Given the description of an element on the screen output the (x, y) to click on. 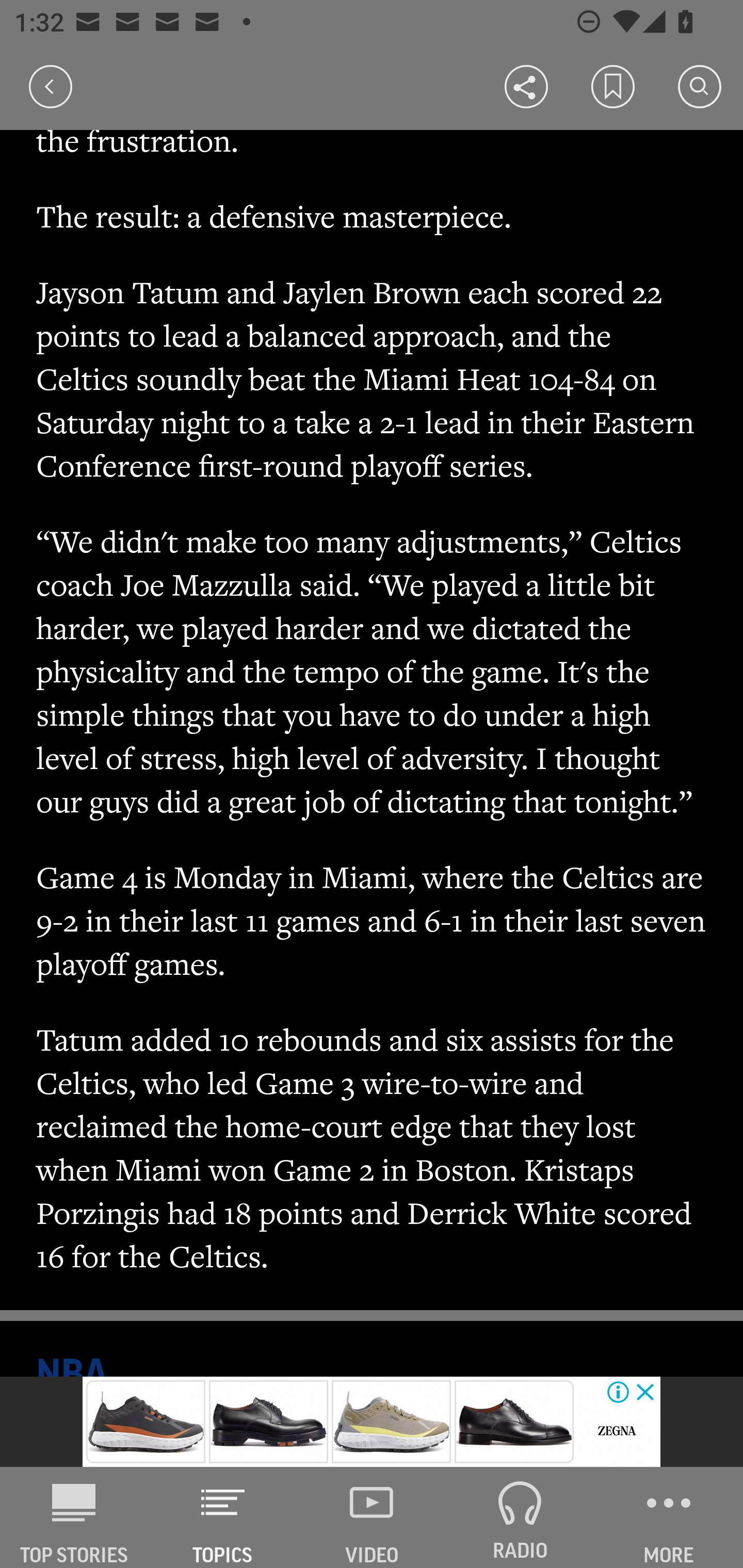
AP News TOP STORIES (74, 1517)
TOPICS (222, 1517)
VIDEO (371, 1517)
RADIO (519, 1517)
MORE (668, 1517)
